Given the description of an element on the screen output the (x, y) to click on. 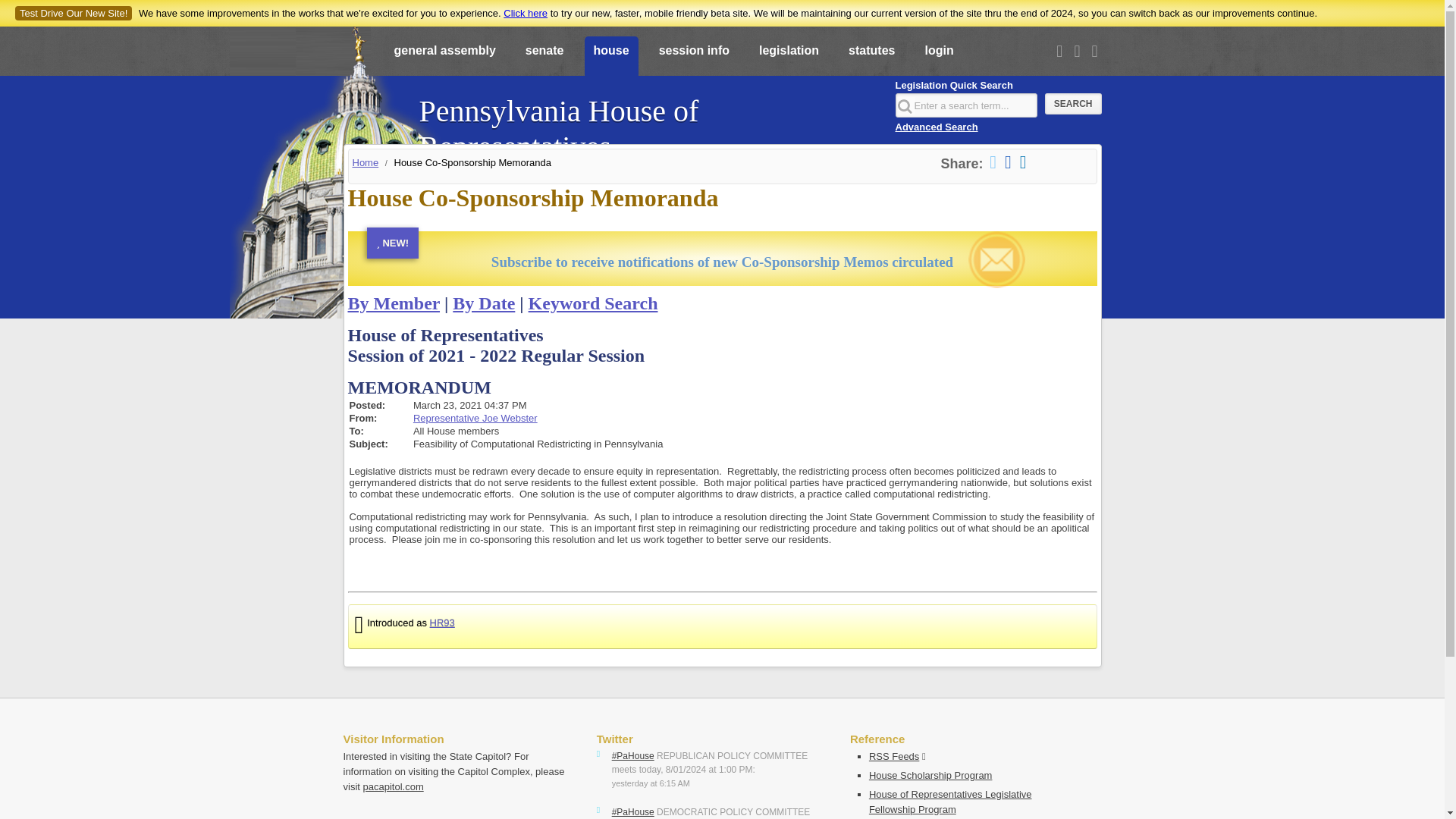
Search (1073, 103)
senate (544, 57)
statutes (872, 57)
legislation (788, 57)
Pennsylvania House of Representatives (647, 120)
session info (693, 57)
house (610, 57)
general assembly (445, 57)
login (938, 57)
Search (1073, 103)
